Given the description of an element on the screen output the (x, y) to click on. 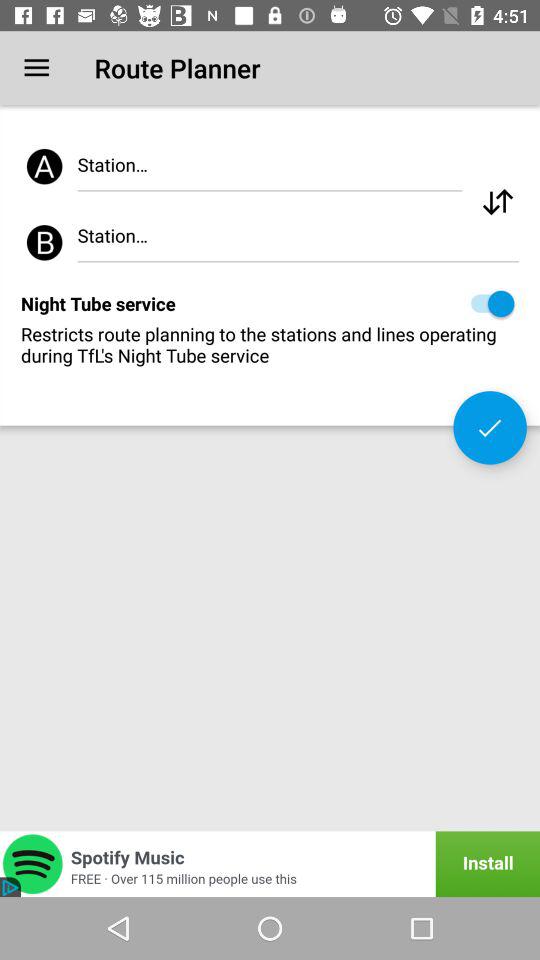
symbol (498, 202)
